Given the description of an element on the screen output the (x, y) to click on. 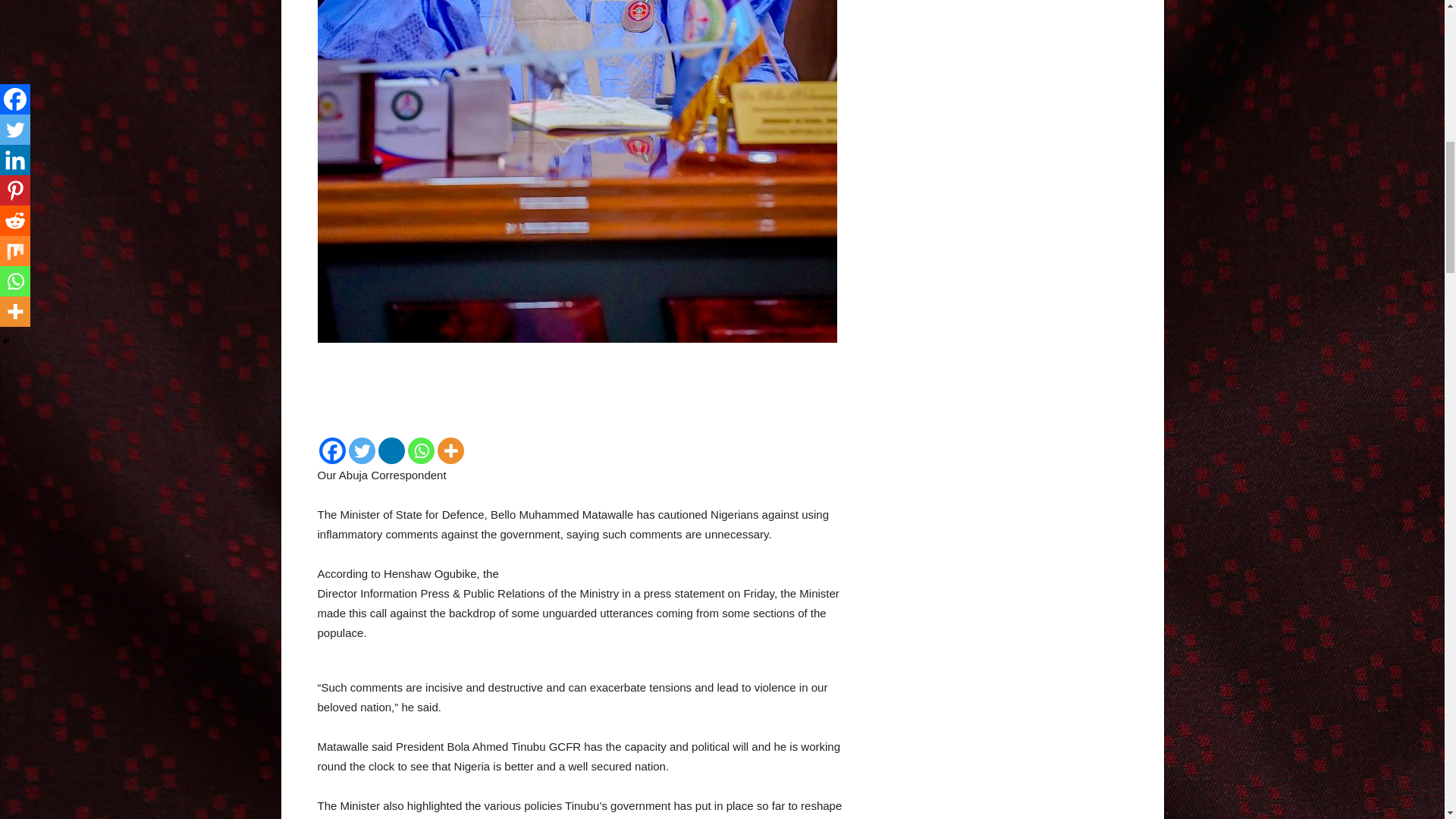
Whatsapp (420, 450)
More (449, 450)
Linkedin (390, 450)
Twitter (362, 450)
Facebook (331, 450)
